Given the description of an element on the screen output the (x, y) to click on. 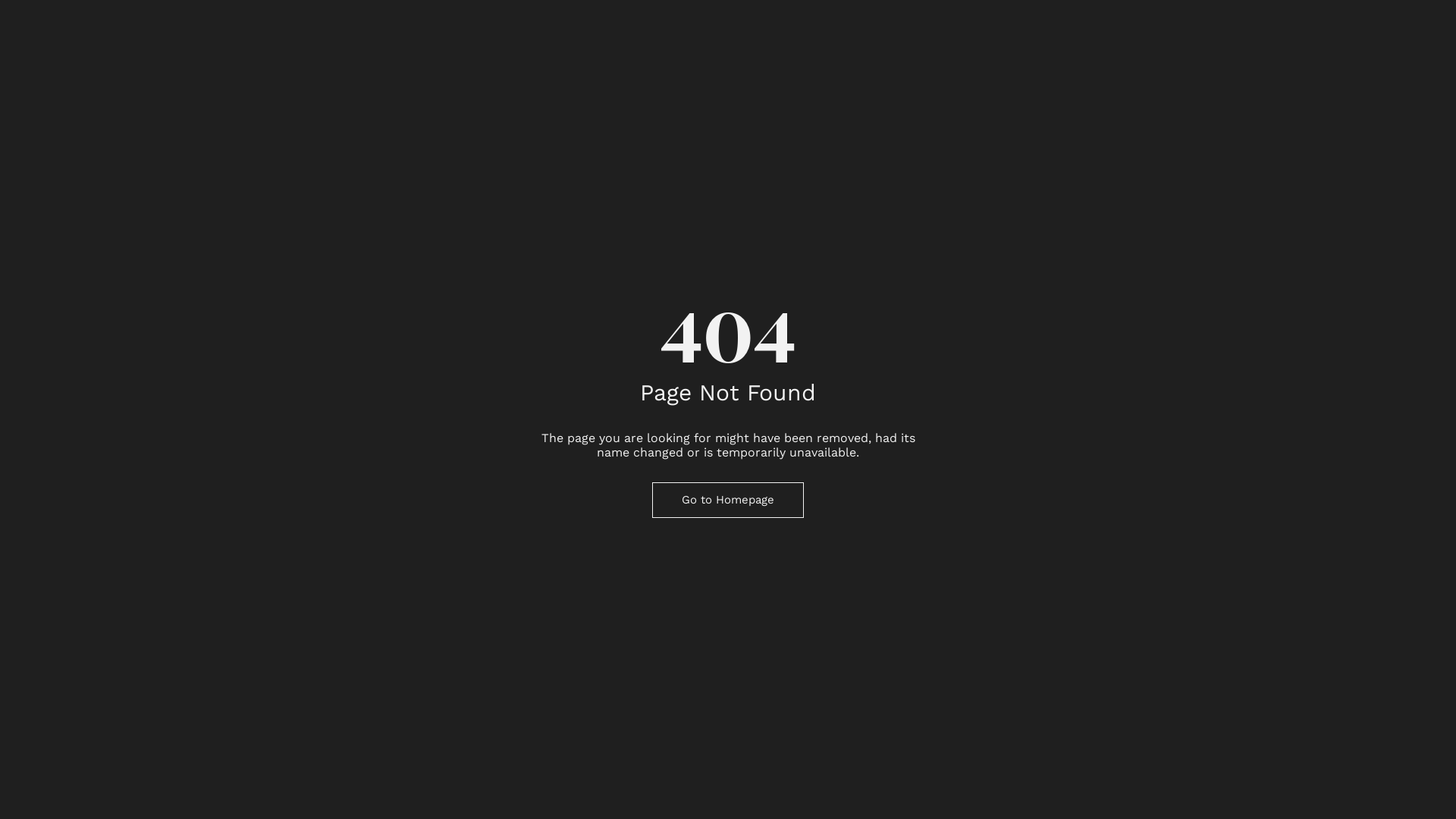
Go to Homepage Element type: text (727, 499)
